Given the description of an element on the screen output the (x, y) to click on. 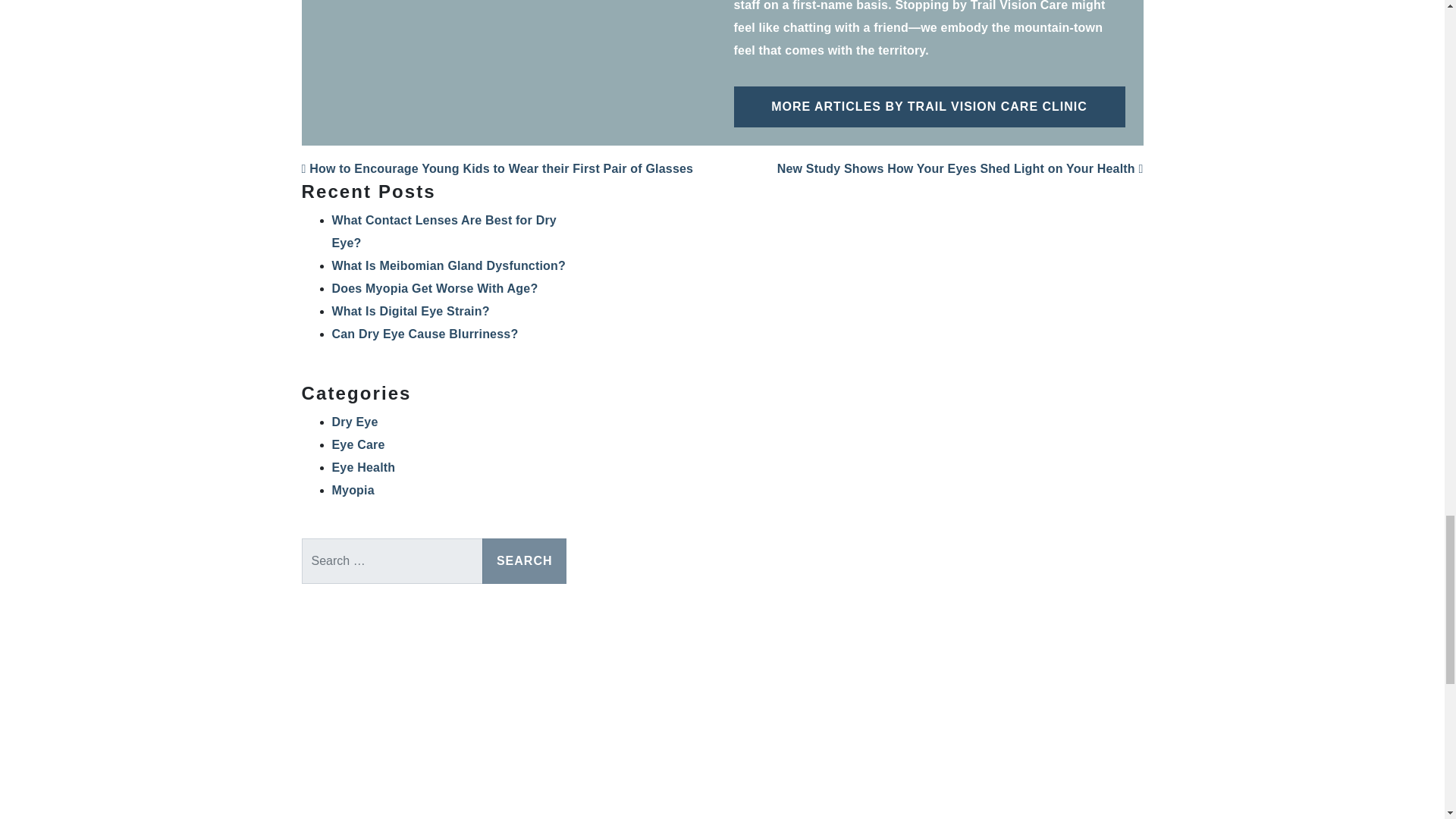
Search (524, 560)
